Given the description of an element on the screen output the (x, y) to click on. 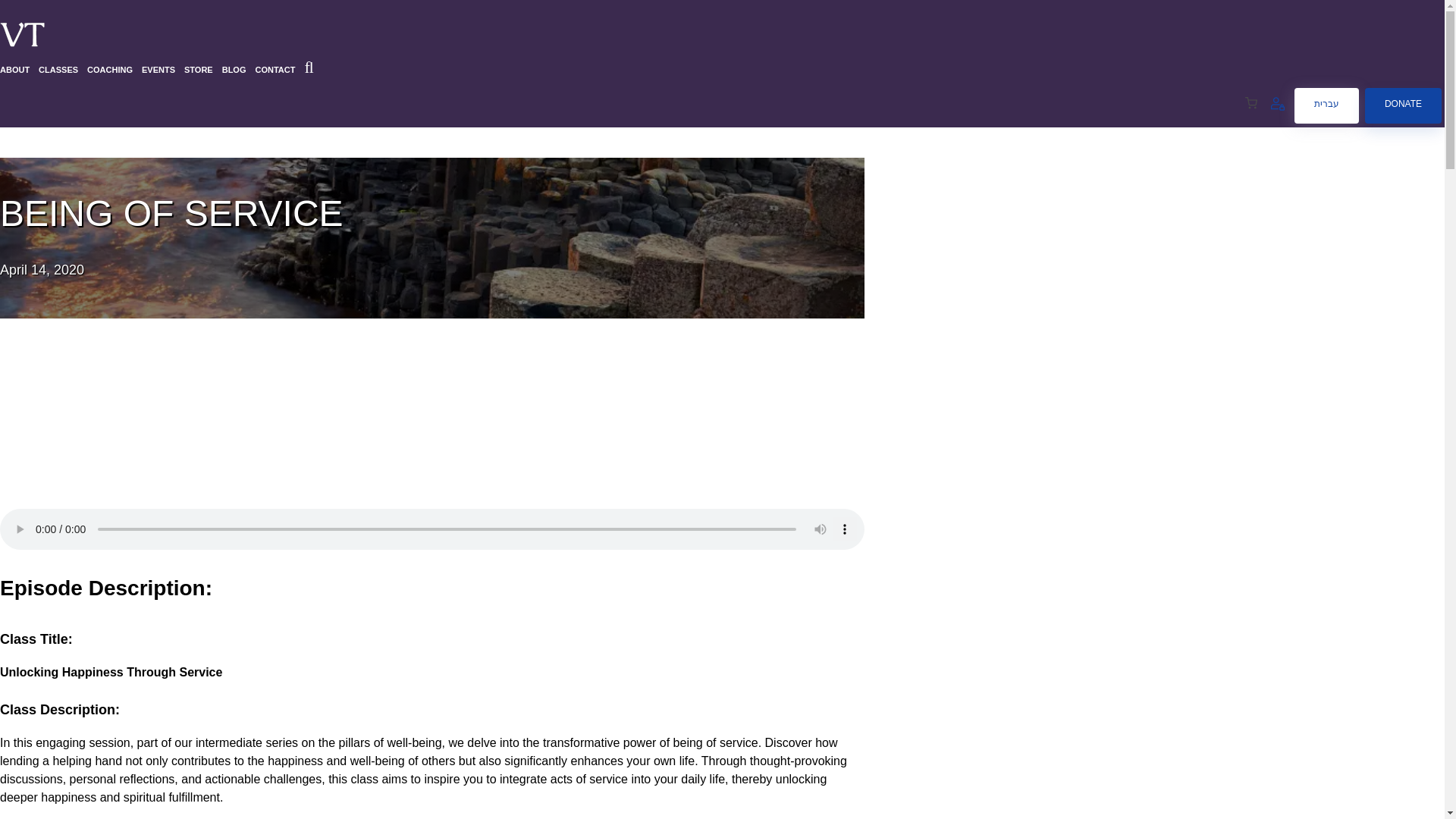
EVENTS (157, 69)
DONATE (1403, 105)
COACHING (109, 69)
ABOUT (14, 69)
STORE (198, 69)
CONTACT (274, 69)
BLOG (234, 69)
CLASSES (58, 69)
